Given the description of an element on the screen output the (x, y) to click on. 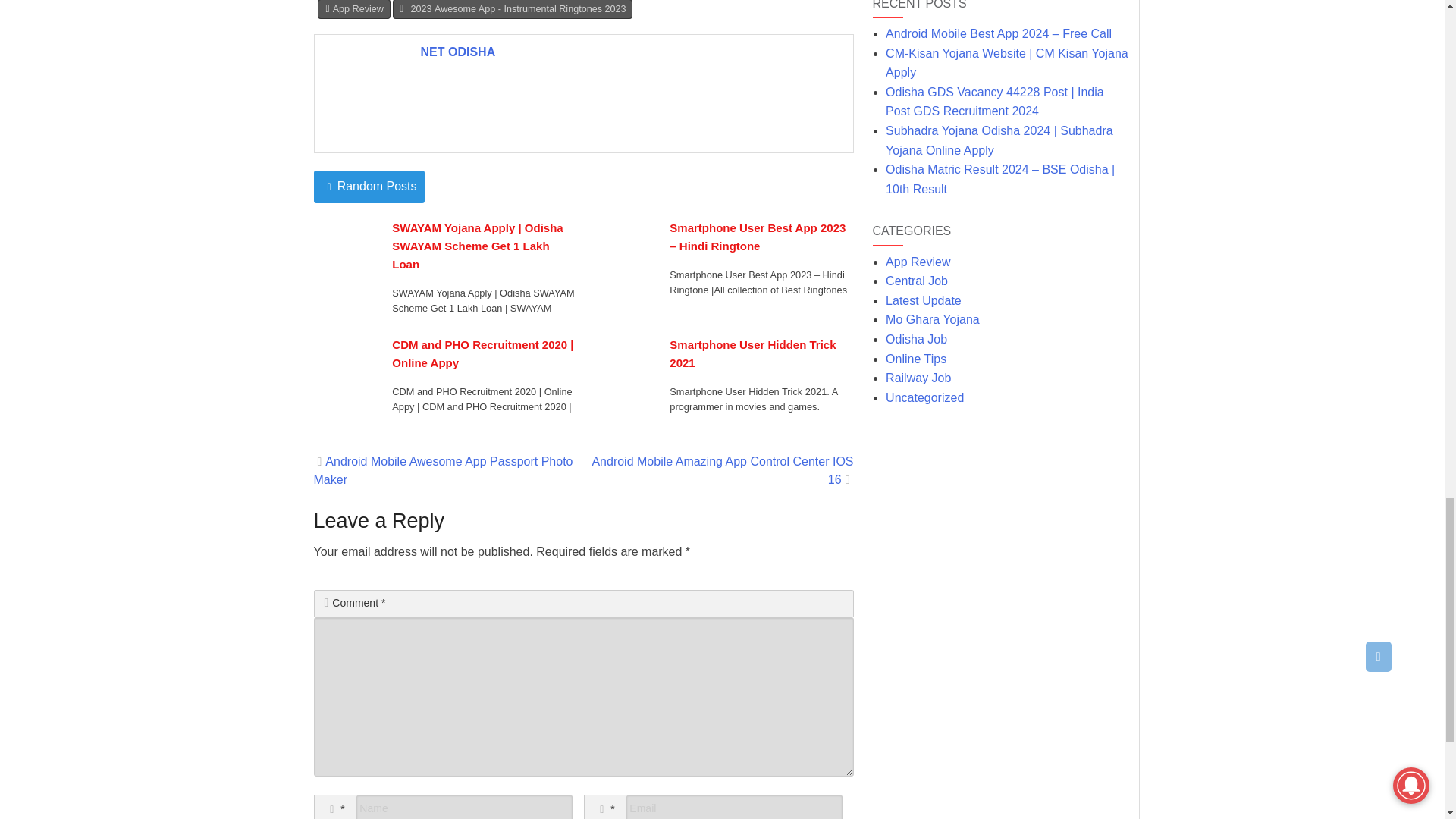
App Review (353, 9)
NET ODISHA (458, 51)
2023 Awesome App - Instrumental Ringtones 2023 (512, 9)
